Given the description of an element on the screen output the (x, y) to click on. 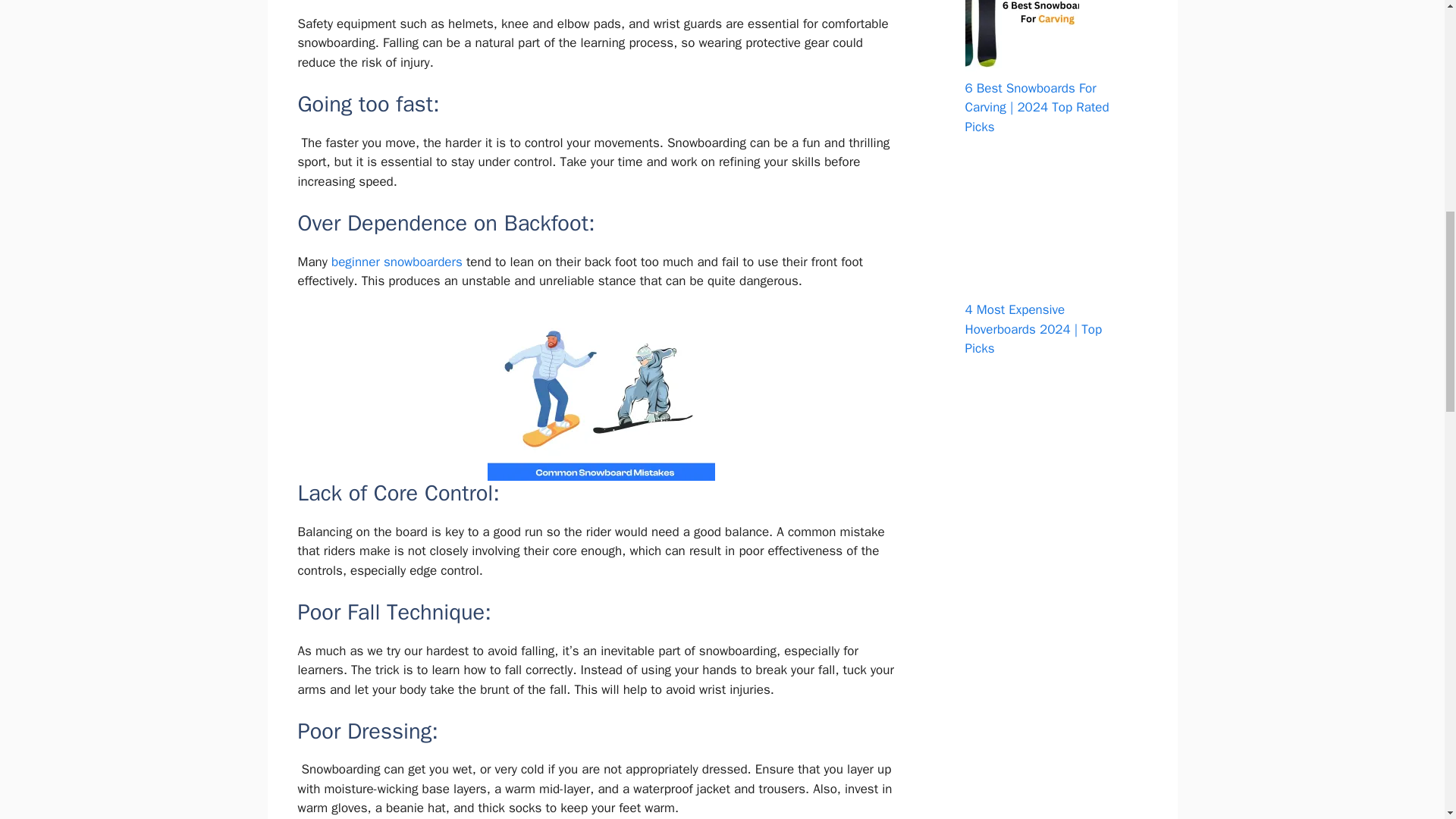
beginner snowboarders (397, 261)
